Given the description of an element on the screen output the (x, y) to click on. 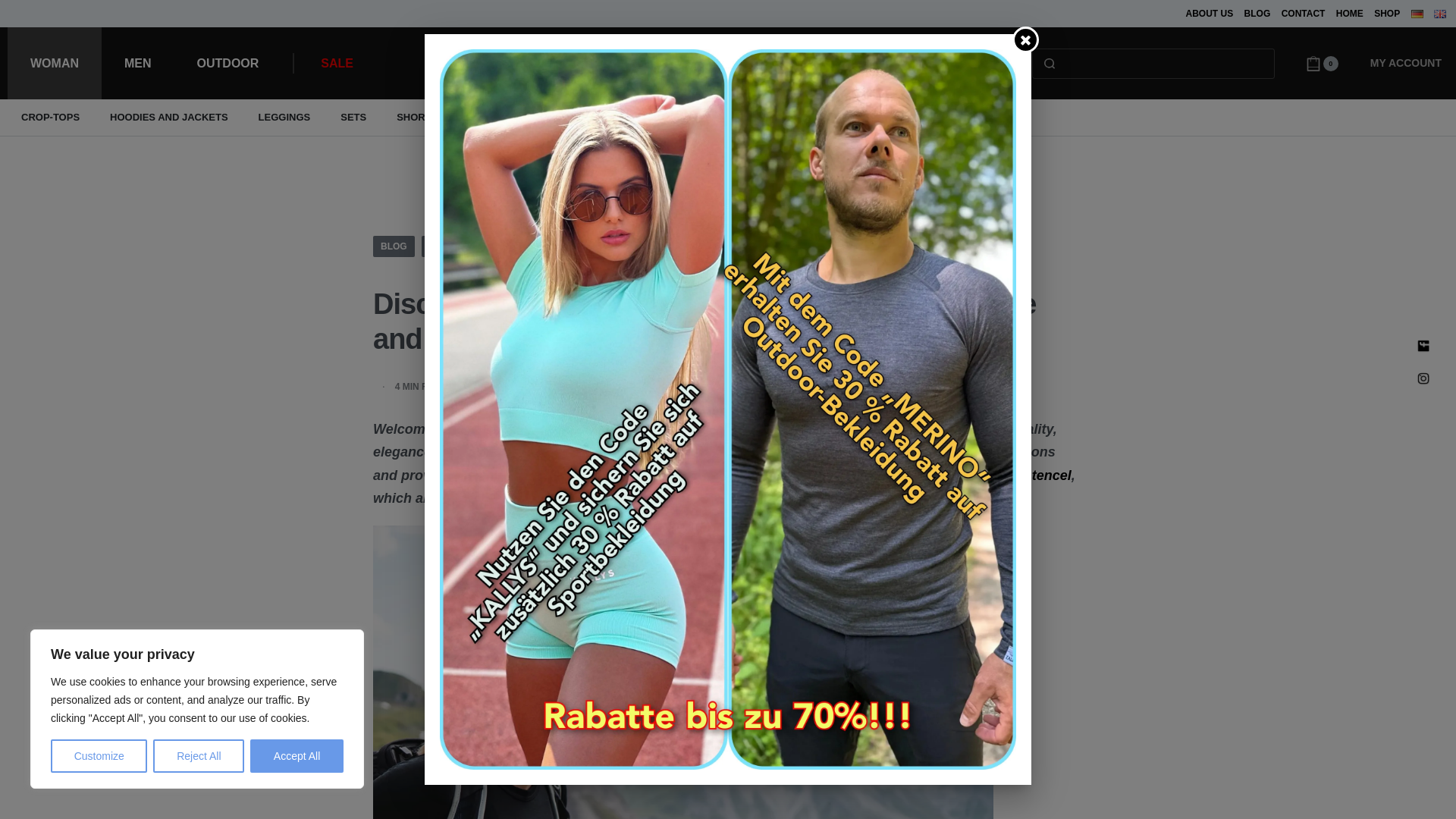
SALE (336, 63)
0 (1321, 63)
MY ACCOUNT (1406, 63)
WOMAN (54, 63)
SETS (352, 117)
Customize (98, 756)
OUTDOOR (228, 63)
SHOP (1386, 13)
CONTACT (1302, 13)
ABOUT US (1209, 13)
BLOG (1257, 13)
SHORTS (416, 117)
Accept All (296, 756)
LEGGINGS (284, 117)
HOME (1349, 13)
